Given the description of an element on the screen output the (x, y) to click on. 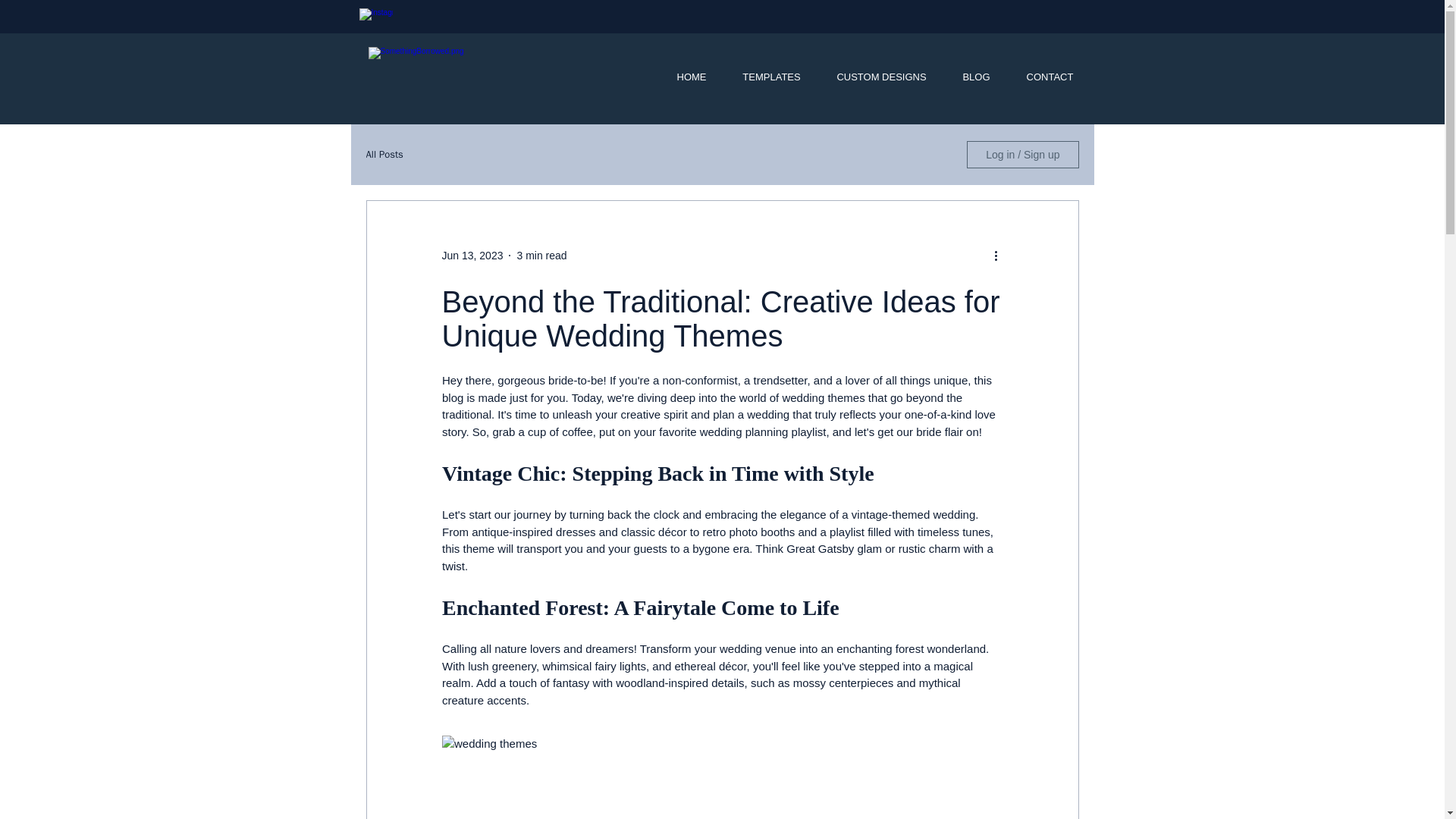
BLOG (976, 77)
CONTACT (1050, 77)
3 min read (541, 254)
Jun 13, 2023 (471, 254)
TEMPLATES (771, 77)
HOME (690, 77)
All Posts (384, 154)
CUSTOM DESIGNS (881, 77)
